Given the description of an element on the screen output the (x, y) to click on. 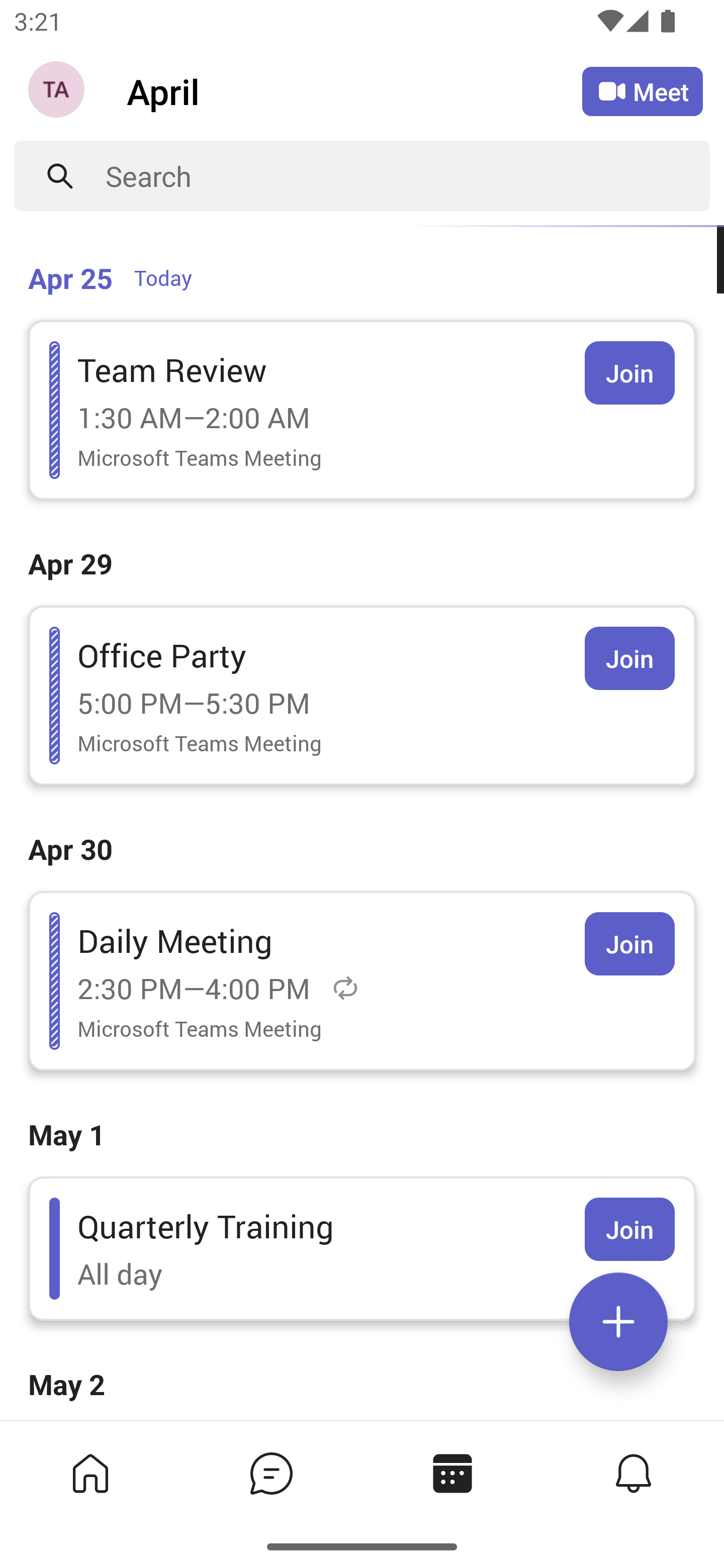
Navigation (58, 91)
Meet Meet now or join with an ID (642, 91)
April April Calendar Agenda View (354, 90)
Search (407, 176)
Join (629, 372)
Join (629, 658)
Join (629, 943)
Join (629, 1228)
Expand meetings menu (618, 1321)
Home tab,1 of 4, not selected (90, 1472)
Chat tab,2 of 4, not selected (271, 1472)
Calendar tab, 3 of 4 (452, 1472)
Activity tab,4 of 4, not selected (633, 1472)
